Given the description of an element on the screen output the (x, y) to click on. 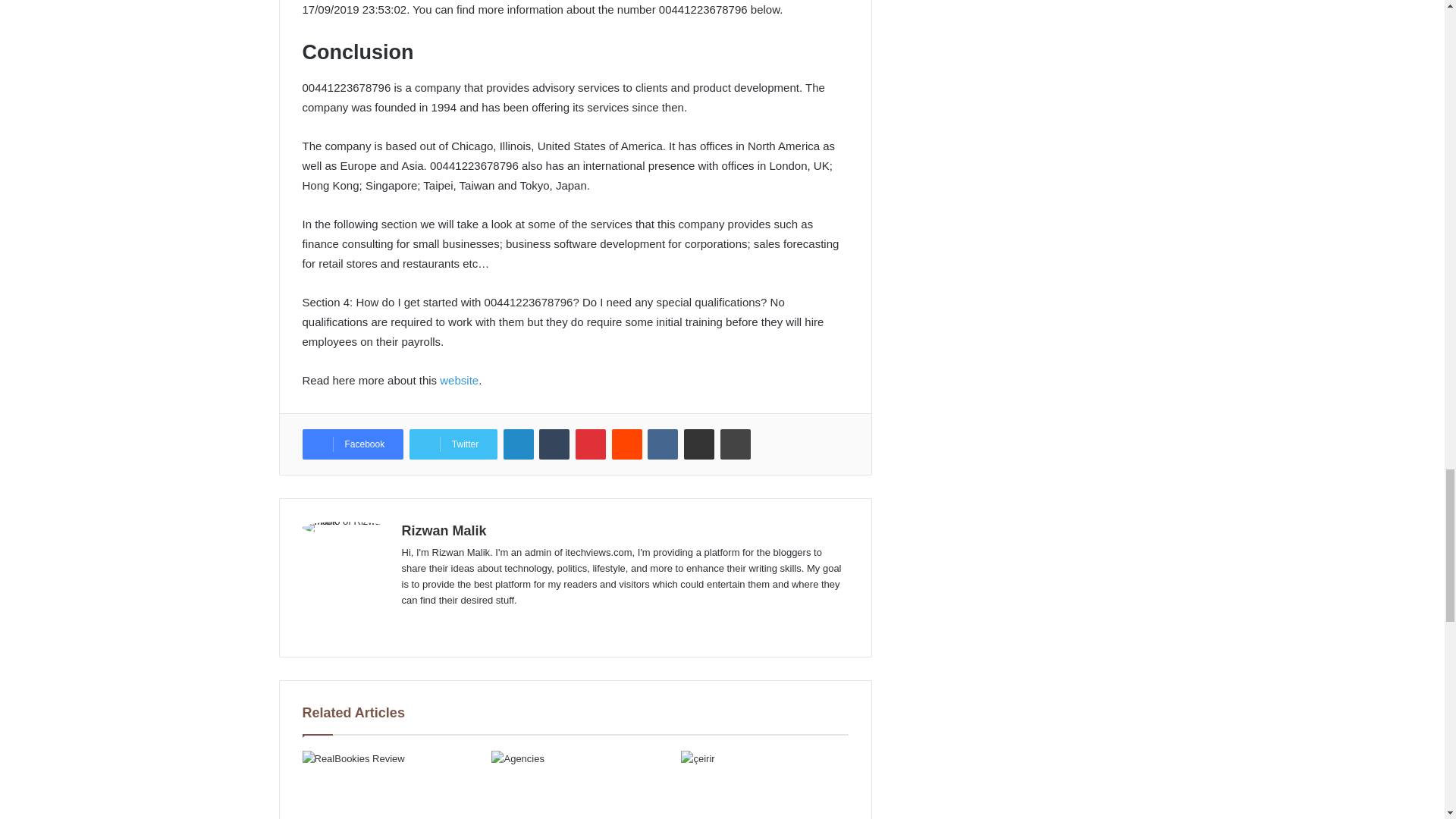
Tumblr (553, 444)
LinkedIn (518, 444)
Share via Email (699, 444)
VKontakte (662, 444)
Print (735, 444)
Reddit (626, 444)
Twitter (453, 444)
Pinterest (590, 444)
Facebook (352, 444)
